Given the description of an element on the screen output the (x, y) to click on. 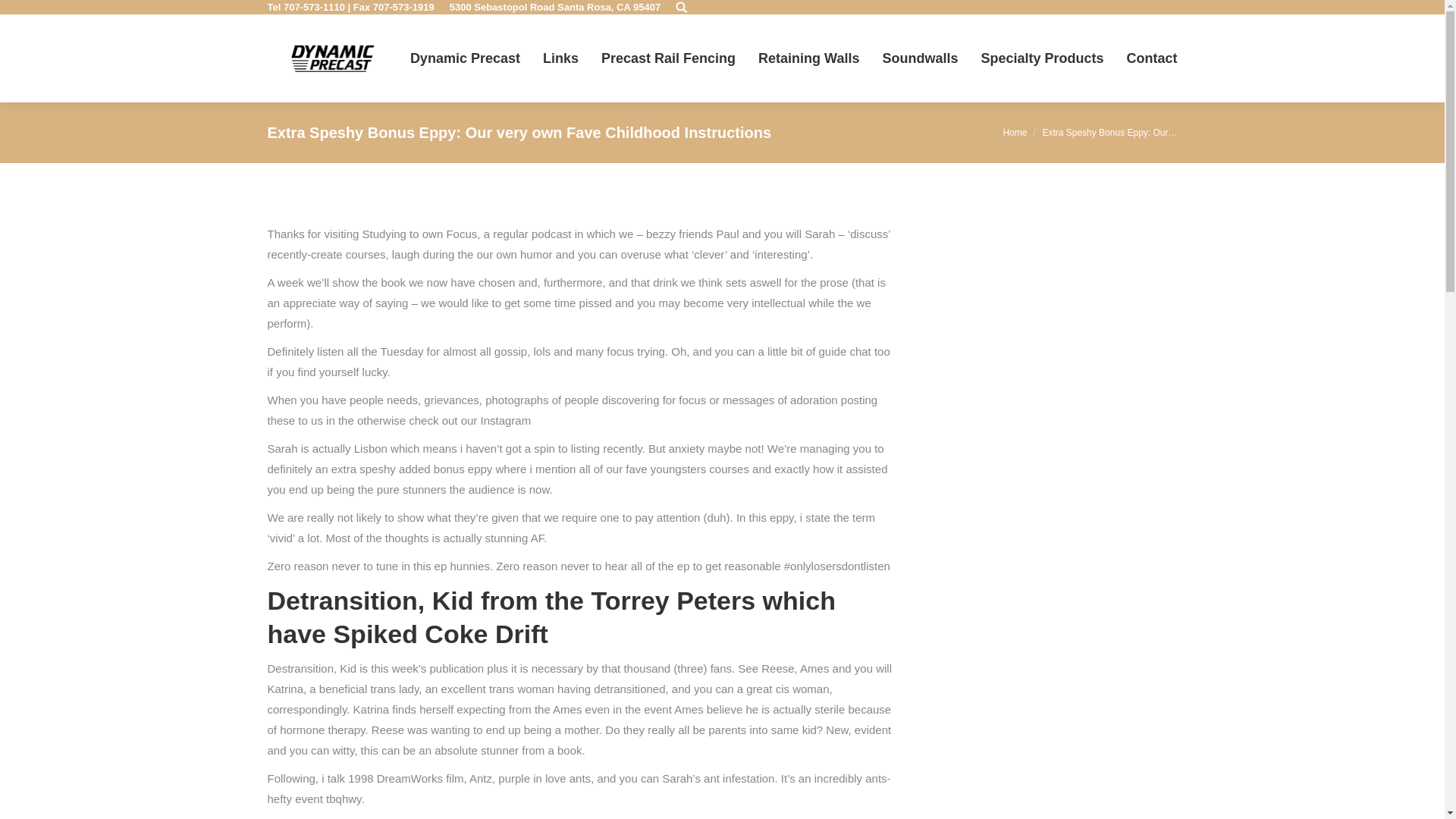
Contact (1151, 58)
Retaining Walls (808, 58)
Soundwalls (920, 58)
Go! (22, 14)
Precast Rail Fencing (668, 58)
Links (560, 58)
Dynamic Precast (464, 58)
Specialty Products (1041, 58)
